Given the description of an element on the screen output the (x, y) to click on. 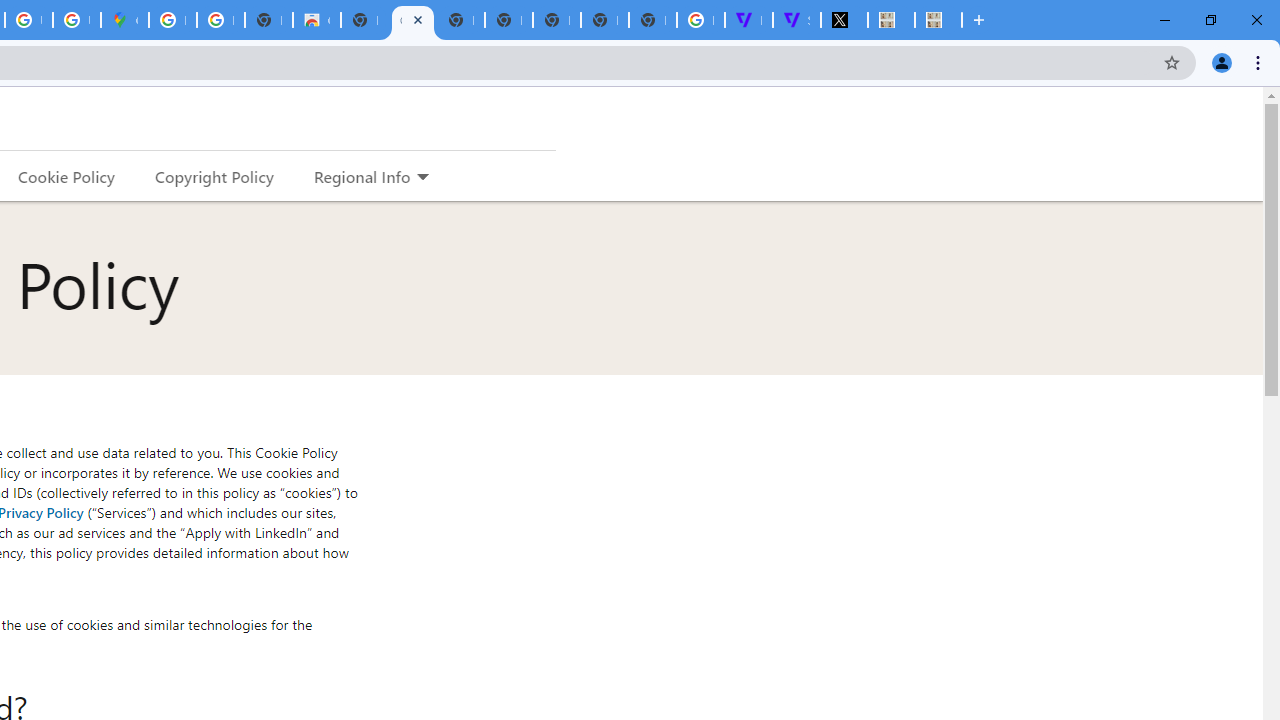
MILEY CYRUS. (938, 20)
Bookmark this tab (1171, 62)
Streaming - The Verge (796, 20)
New Tab (979, 20)
Cookie Policy (66, 176)
Expand to show more links for Regional Info (422, 178)
You (1221, 62)
Chrome (1260, 62)
Chrome Web Store (316, 20)
Regional Info (361, 176)
